Given the description of an element on the screen output the (x, y) to click on. 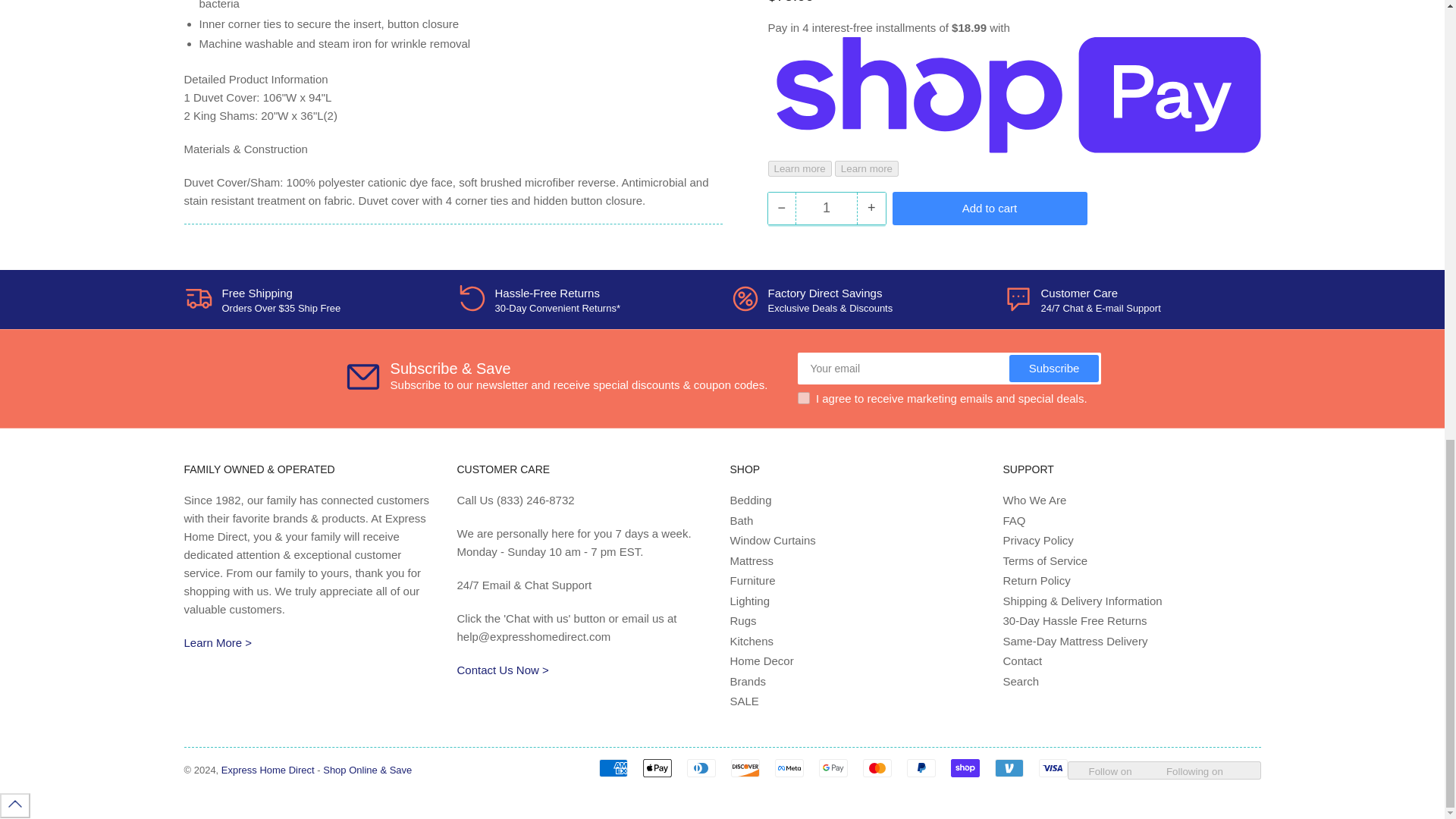
Diners Club (701, 768)
Contact (502, 669)
on (803, 398)
About Us (217, 642)
American Express (612, 768)
Apple Pay (657, 768)
